Given the description of an element on the screen output the (x, y) to click on. 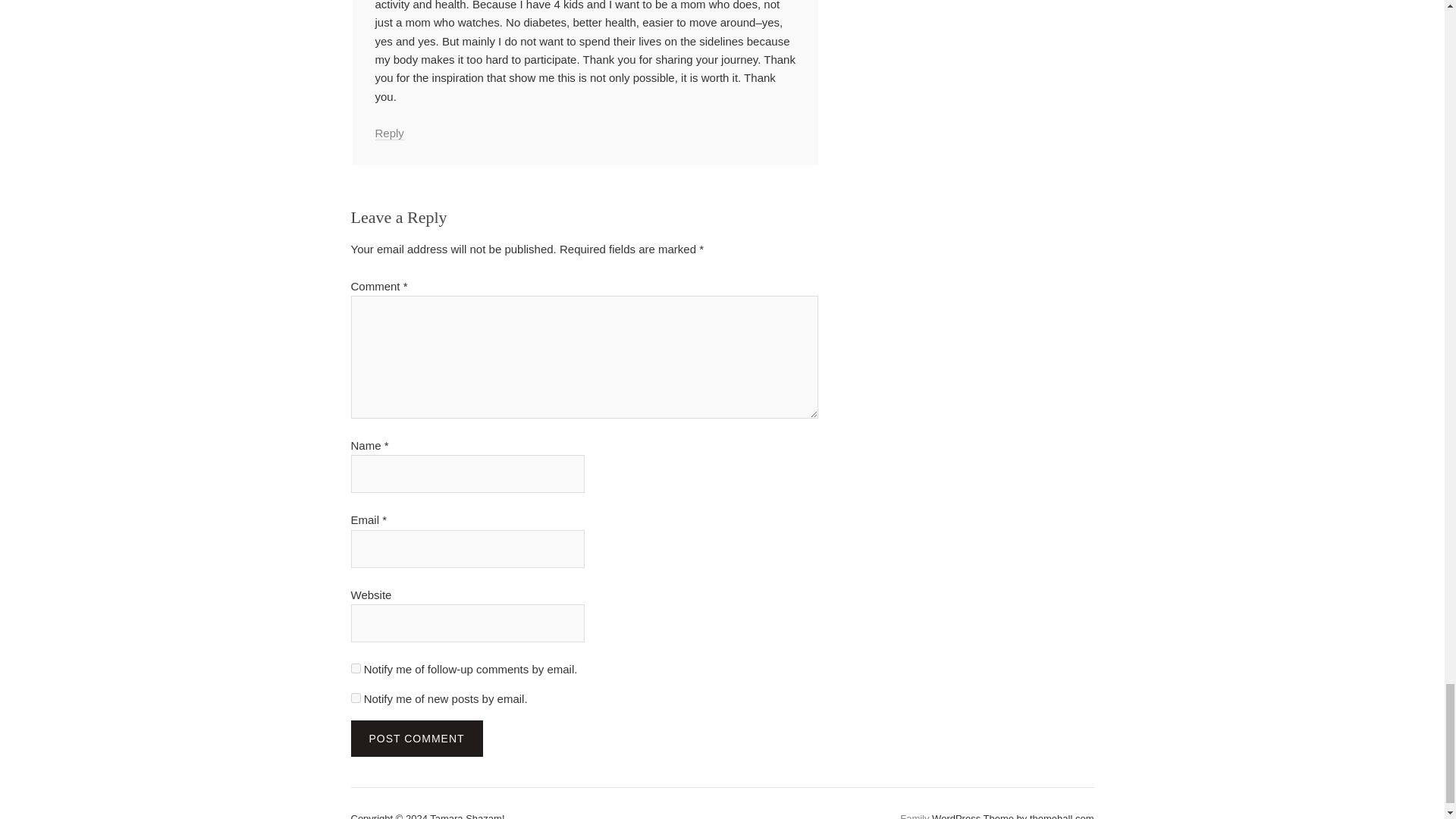
Post Comment (415, 738)
subscribe (354, 697)
Reply (388, 133)
subscribe (354, 668)
Post Comment (415, 738)
